Given the description of an element on the screen output the (x, y) to click on. 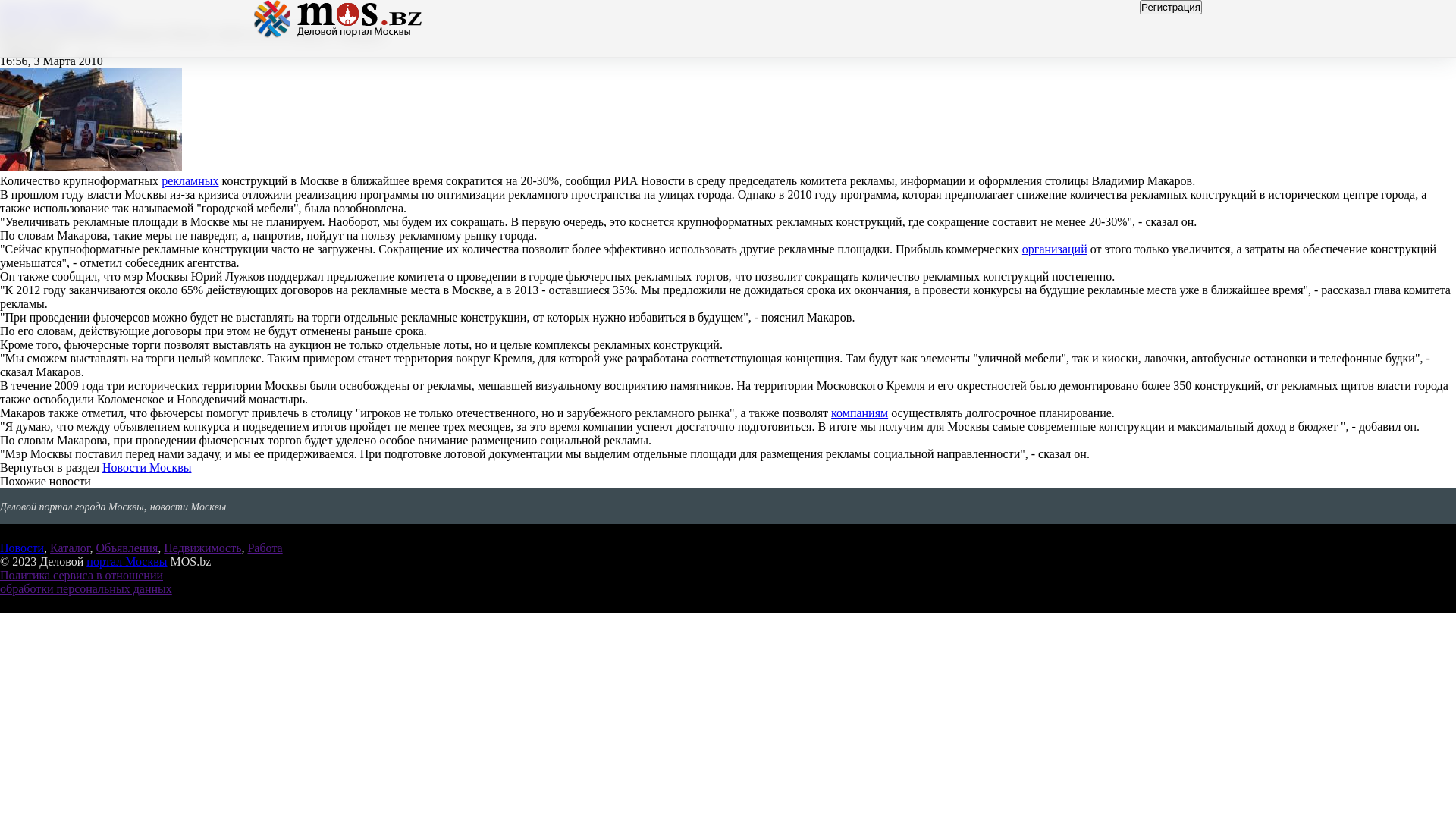
MOS.bz Element type: hover (339, 18)
